Given the description of an element on the screen output the (x, y) to click on. 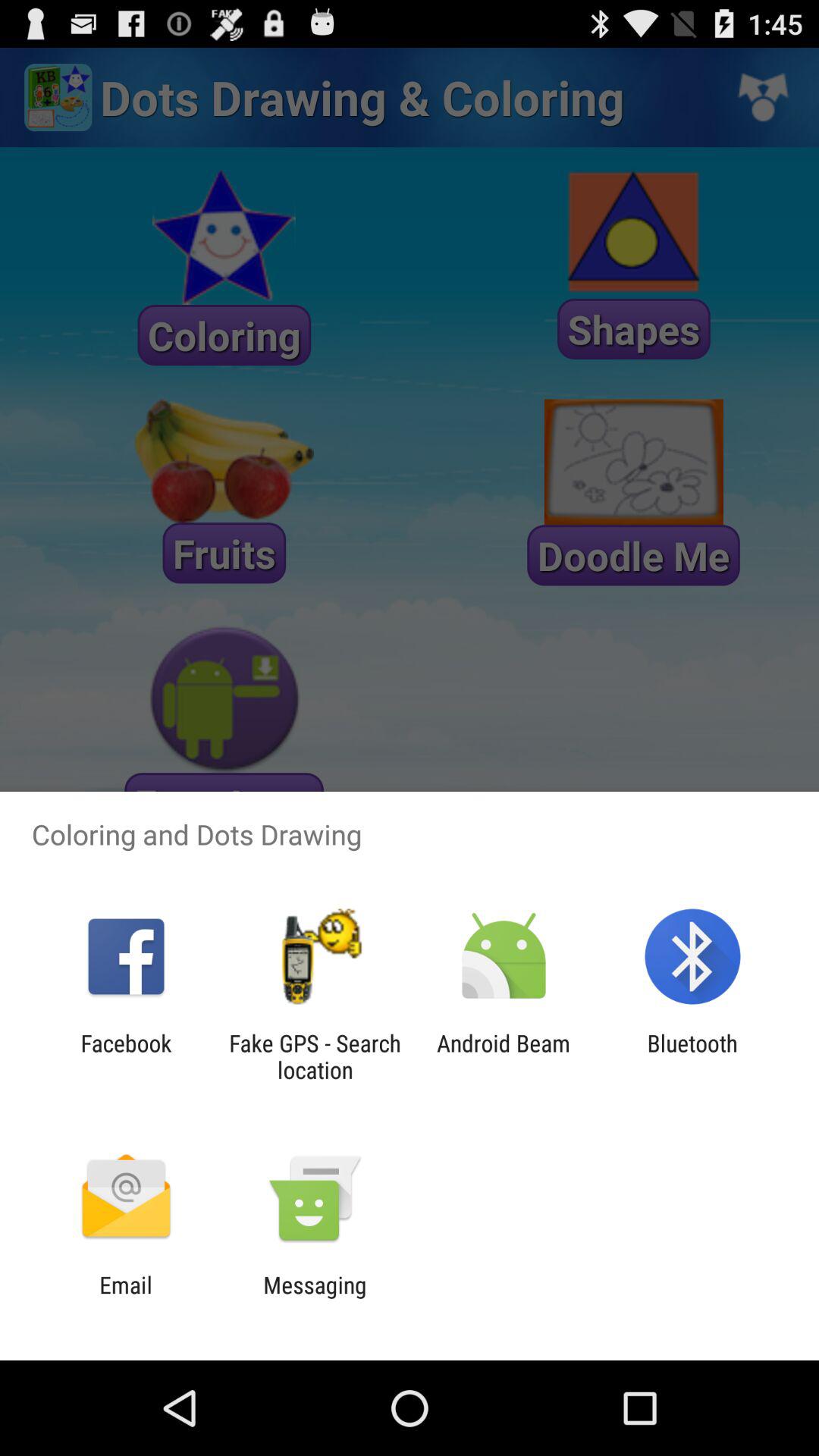
click the fake gps search (314, 1056)
